Given the description of an element on the screen output the (x, y) to click on. 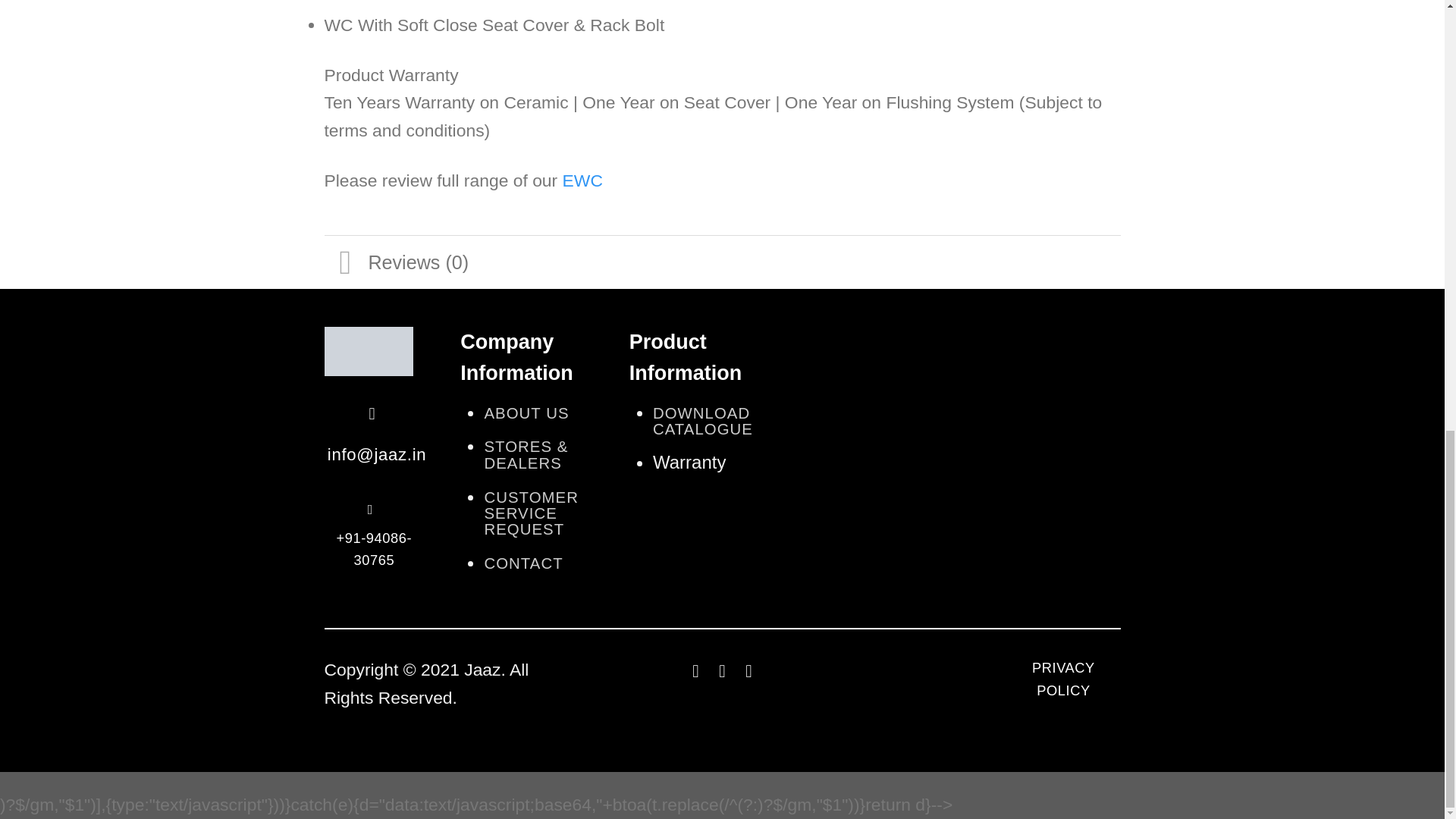
Follow on Facebook (695, 670)
Follow on Instagram (721, 670)
PRIVACY POLICY (1062, 681)
ABOUT US (526, 412)
CONTACT (522, 563)
EWC (582, 180)
Follow on YouTube (748, 670)
DOWNLOAD CATALOGUE (702, 420)
CUSTOMER SERVICE REQUEST (530, 513)
